Given the description of an element on the screen output the (x, y) to click on. 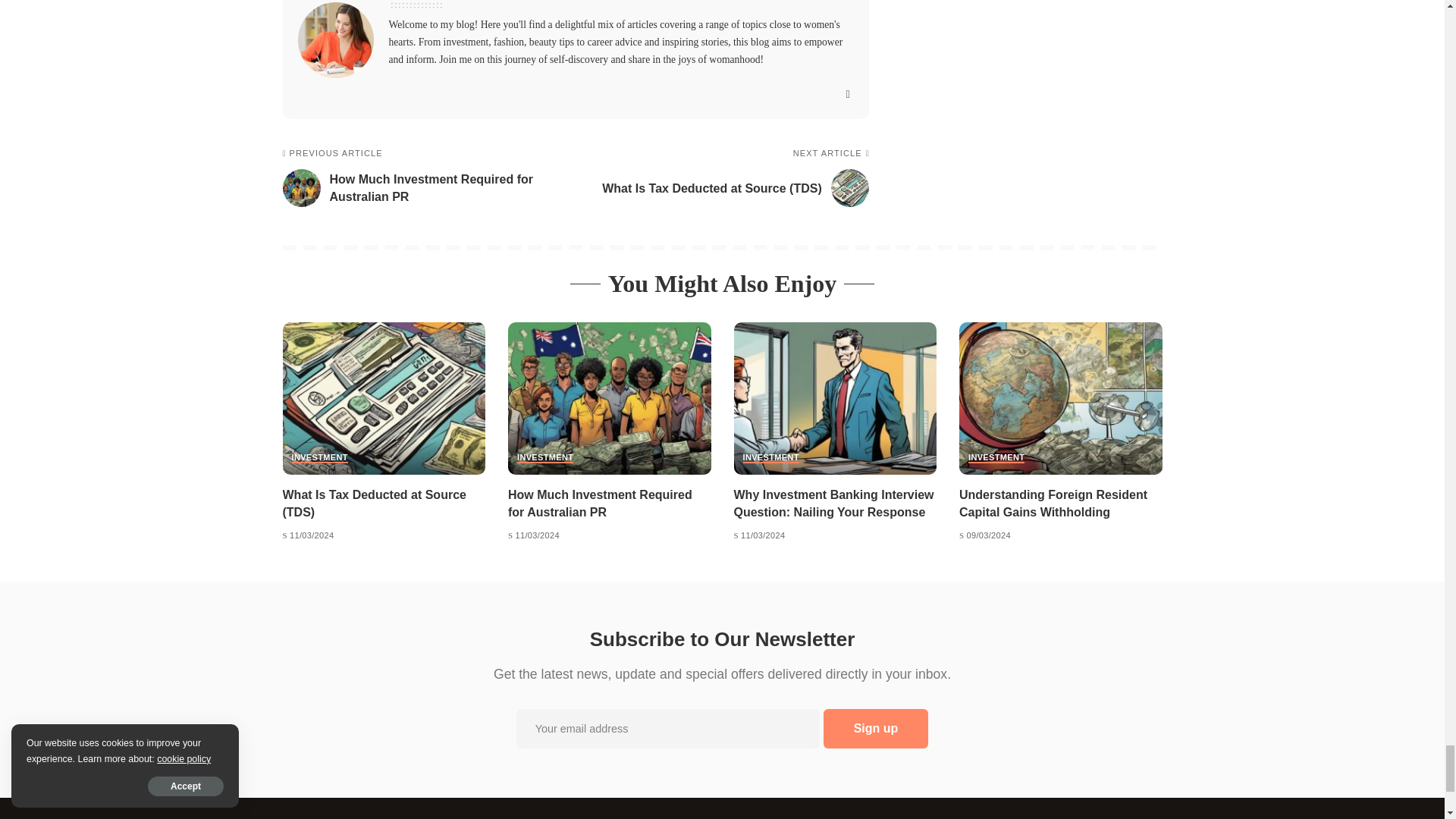
Sign up (876, 728)
